Given the description of an element on the screen output the (x, y) to click on. 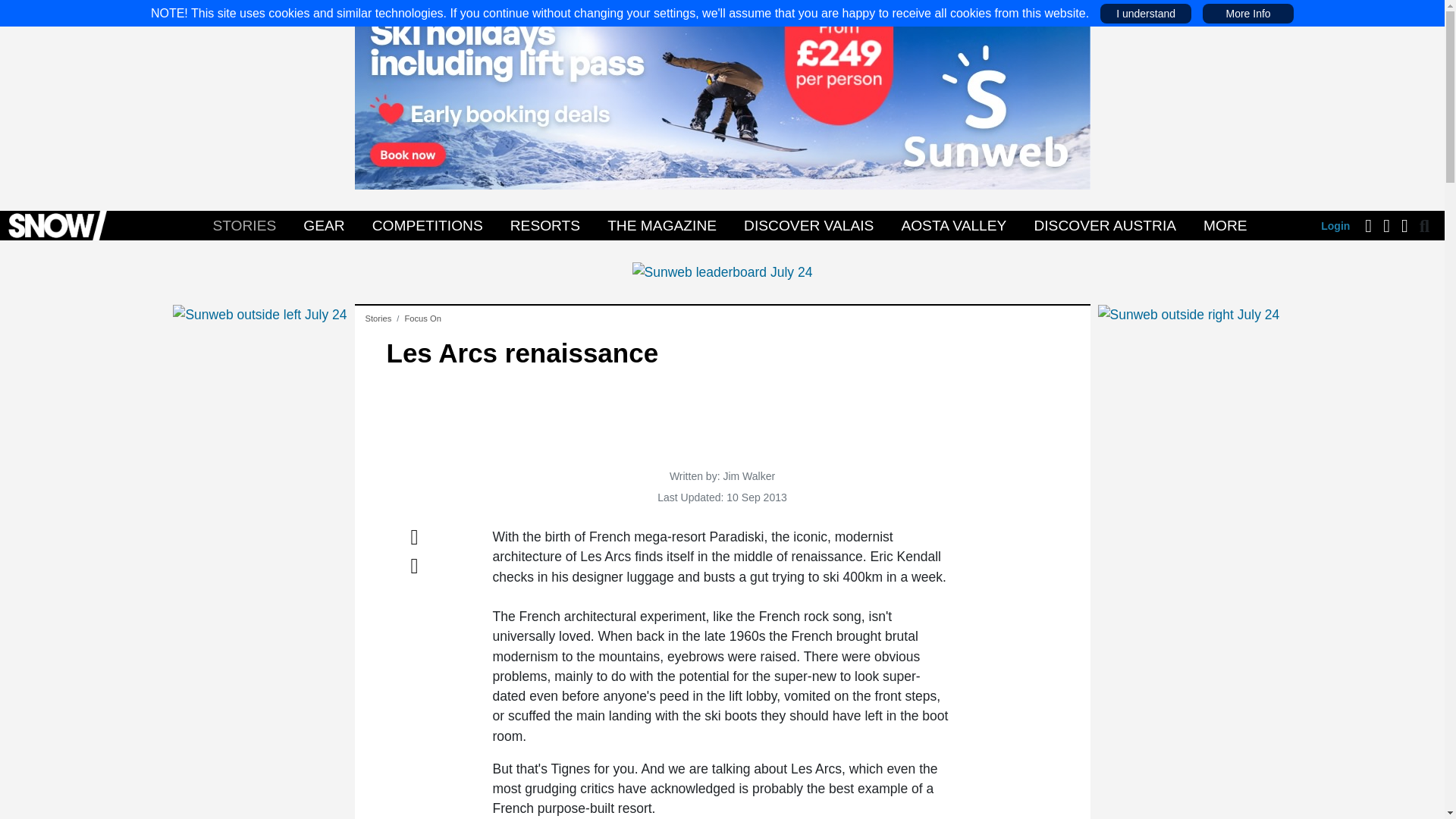
COMPETITIONS (427, 225)
GEAR (323, 225)
THE MAGAZINE (662, 225)
RESORTS (544, 225)
Login (1334, 225)
Focus On (422, 317)
Stories (378, 317)
AOSTA VALLEY (953, 225)
More Info (1247, 13)
Sunweb leaderboard July 24 (721, 271)
